Given the description of an element on the screen output the (x, y) to click on. 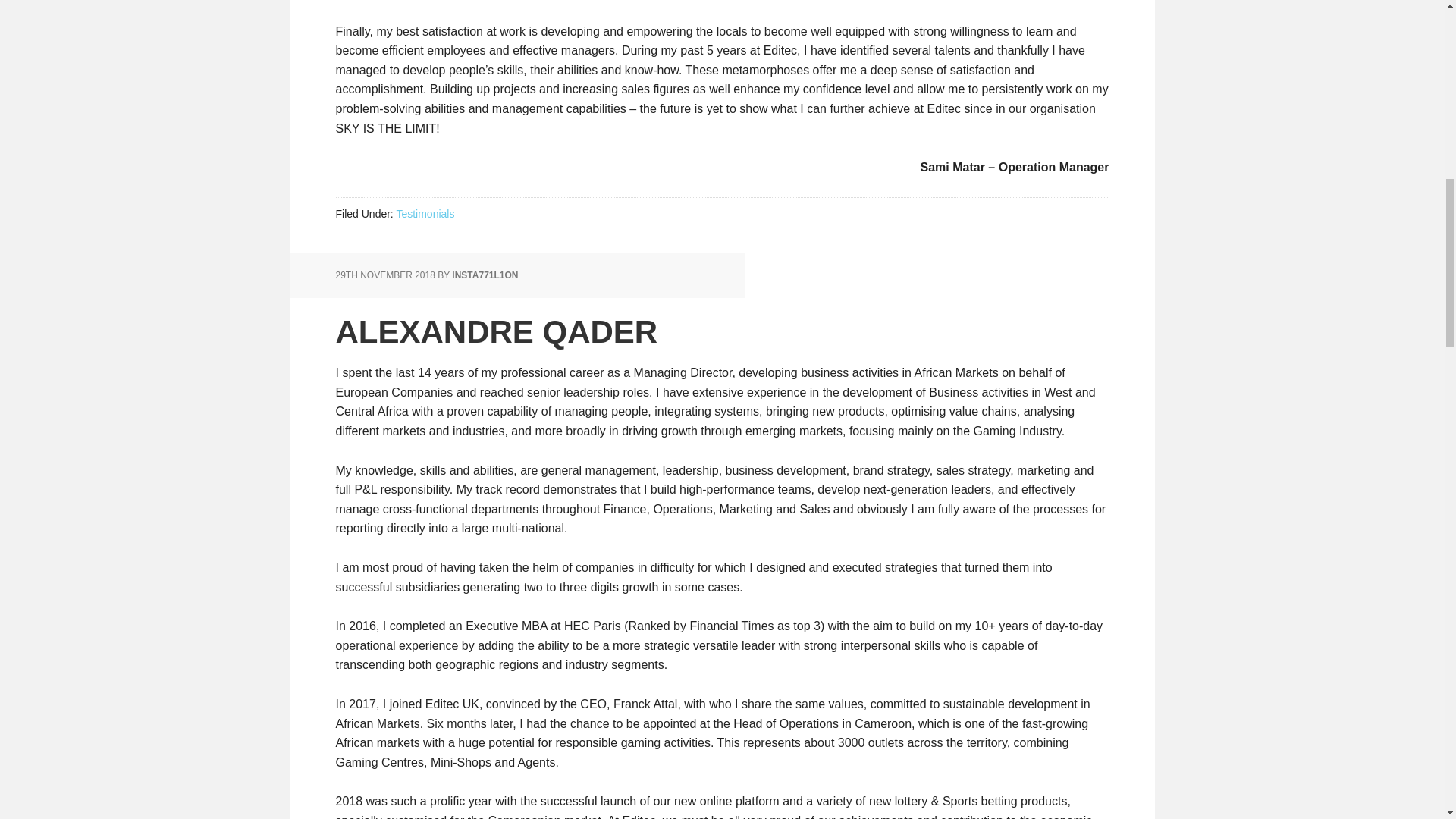
ALEXANDRE QADER (496, 331)
Testimonials (425, 214)
INSTA771L1ON (484, 275)
